Given the description of an element on the screen output the (x, y) to click on. 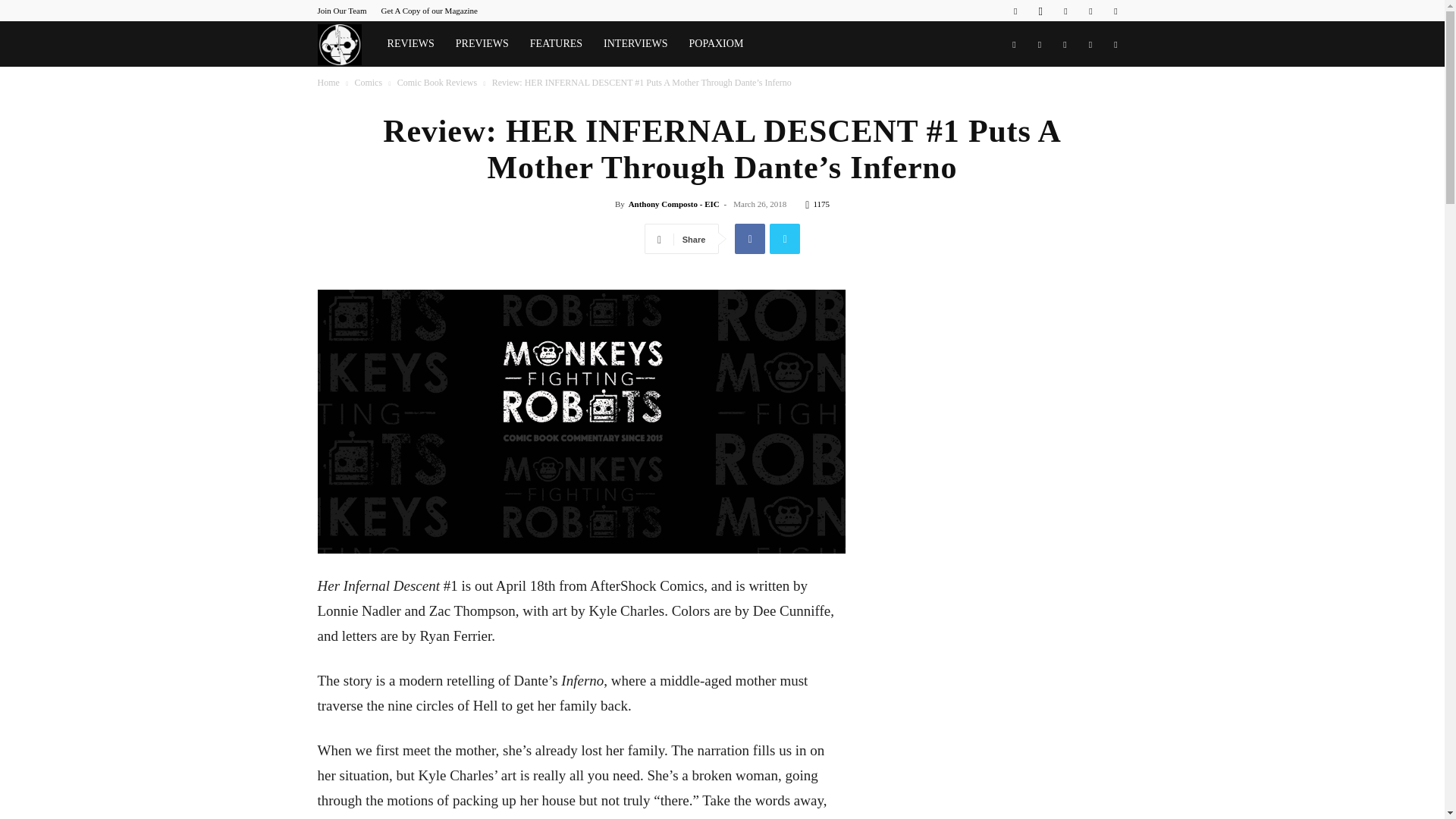
Comic Book Reviews (437, 81)
Get A Copy of our Magazine (429, 10)
PREVIEWS (482, 43)
Reddit (1065, 10)
FEATURES (555, 43)
Monkeys Fighting Robots (346, 44)
Youtube (1114, 10)
INTERVIEWS (635, 43)
Twitter (1090, 10)
Home (328, 81)
Facebook (1015, 10)
Comics (367, 81)
POPAXIOM (716, 43)
Anthony Composto - EIC (673, 203)
REVIEWS (411, 43)
